Given the description of an element on the screen output the (x, y) to click on. 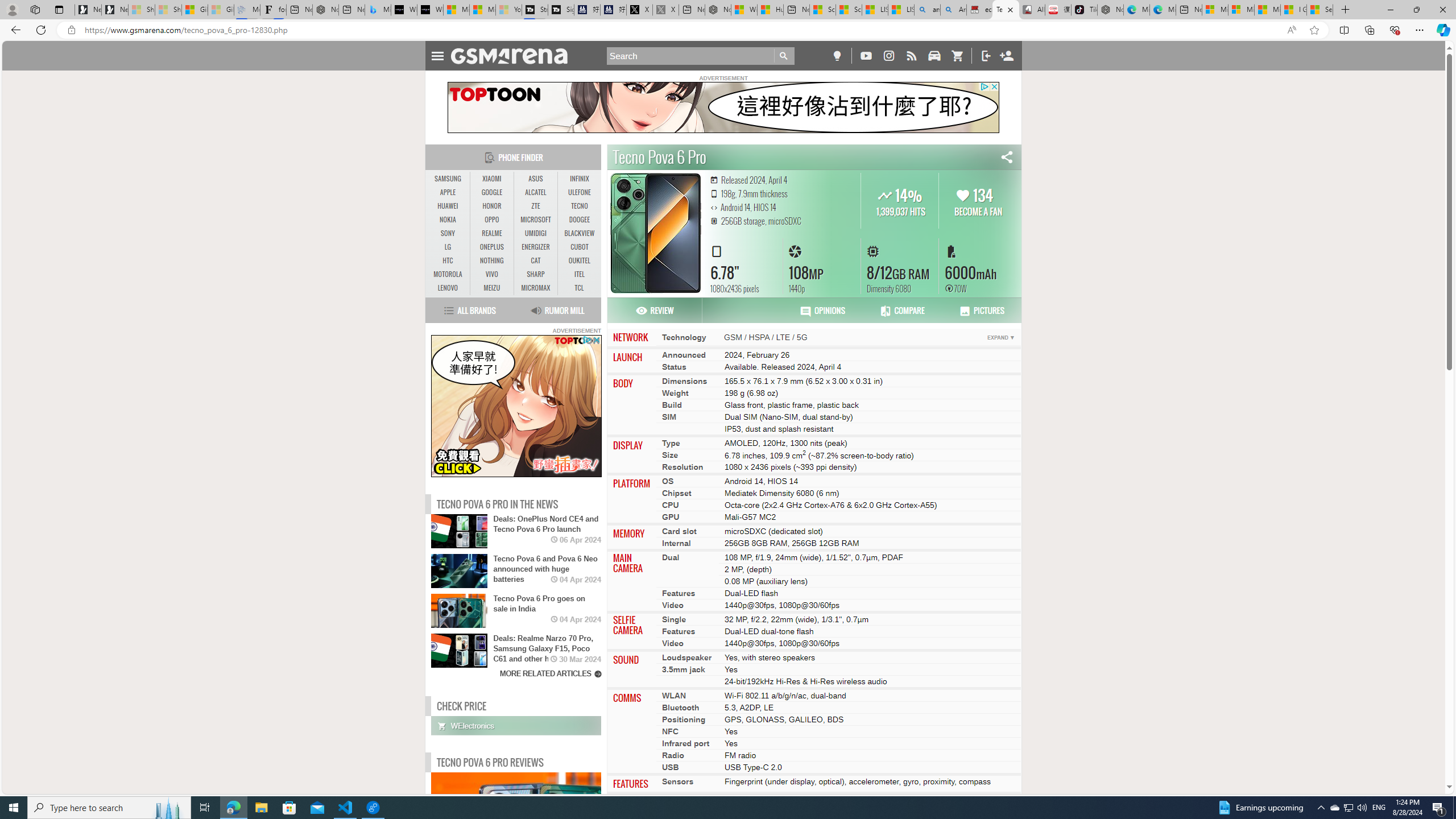
HONOR (491, 206)
MEIZU (491, 287)
What's the best AI voice generator? - voice.ai (430, 9)
Type (670, 442)
Weight (675, 392)
GOOGLE (491, 192)
Microsoft Bing Travel - Shangri-La Hotel Bangkok (377, 9)
MOTOROLA (448, 273)
CUBOT (579, 246)
Tecno Pova 6 Pro MORE PICTURES (655, 232)
